Given the description of an element on the screen output the (x, y) to click on. 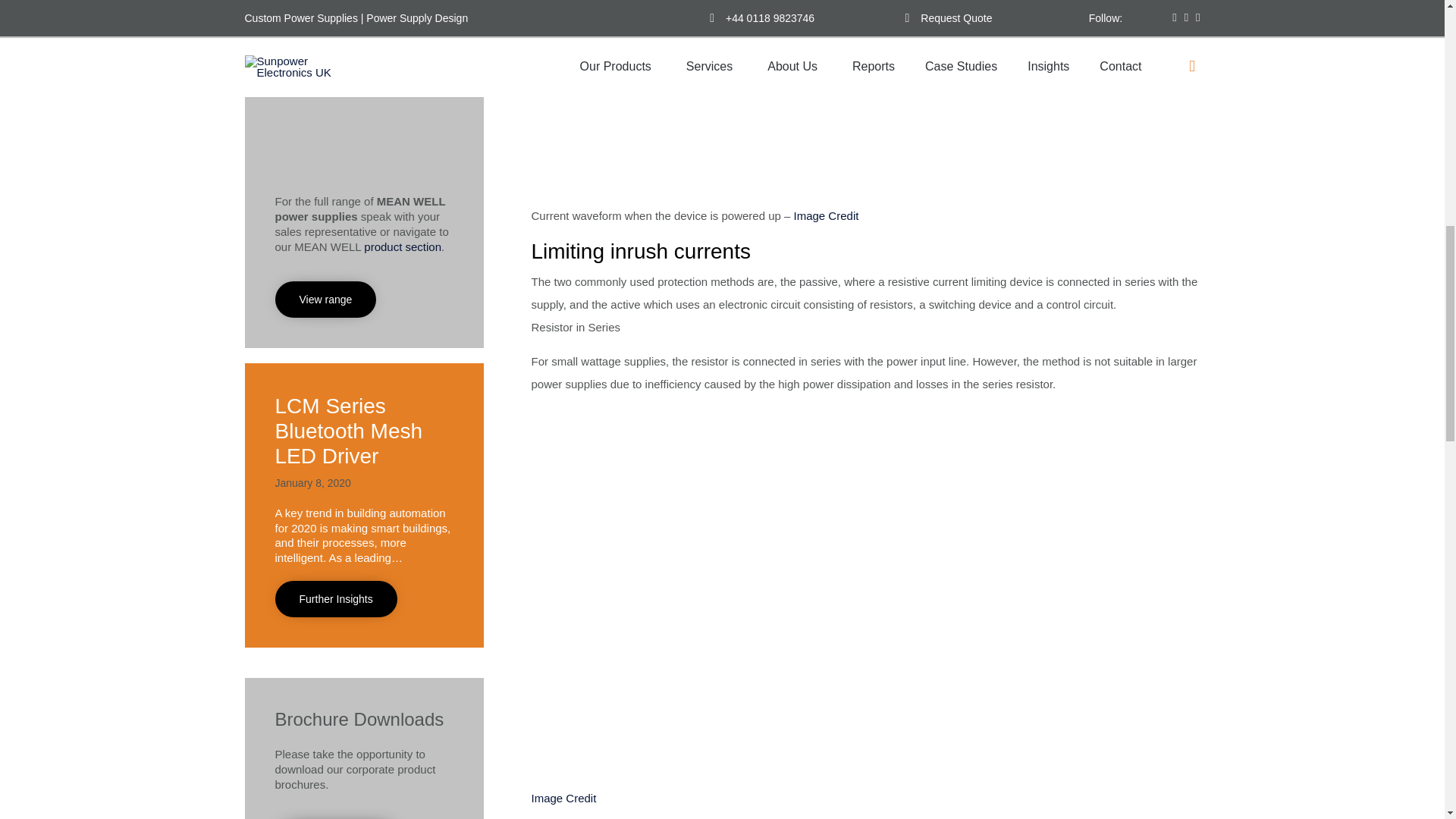
LCM Series Bluetooth Mesh LED Driver (348, 430)
meanwell (339, 141)
Inrush Current Image Credit (563, 798)
Inrush Current Image Credit (826, 215)
